Given the description of an element on the screen output the (x, y) to click on. 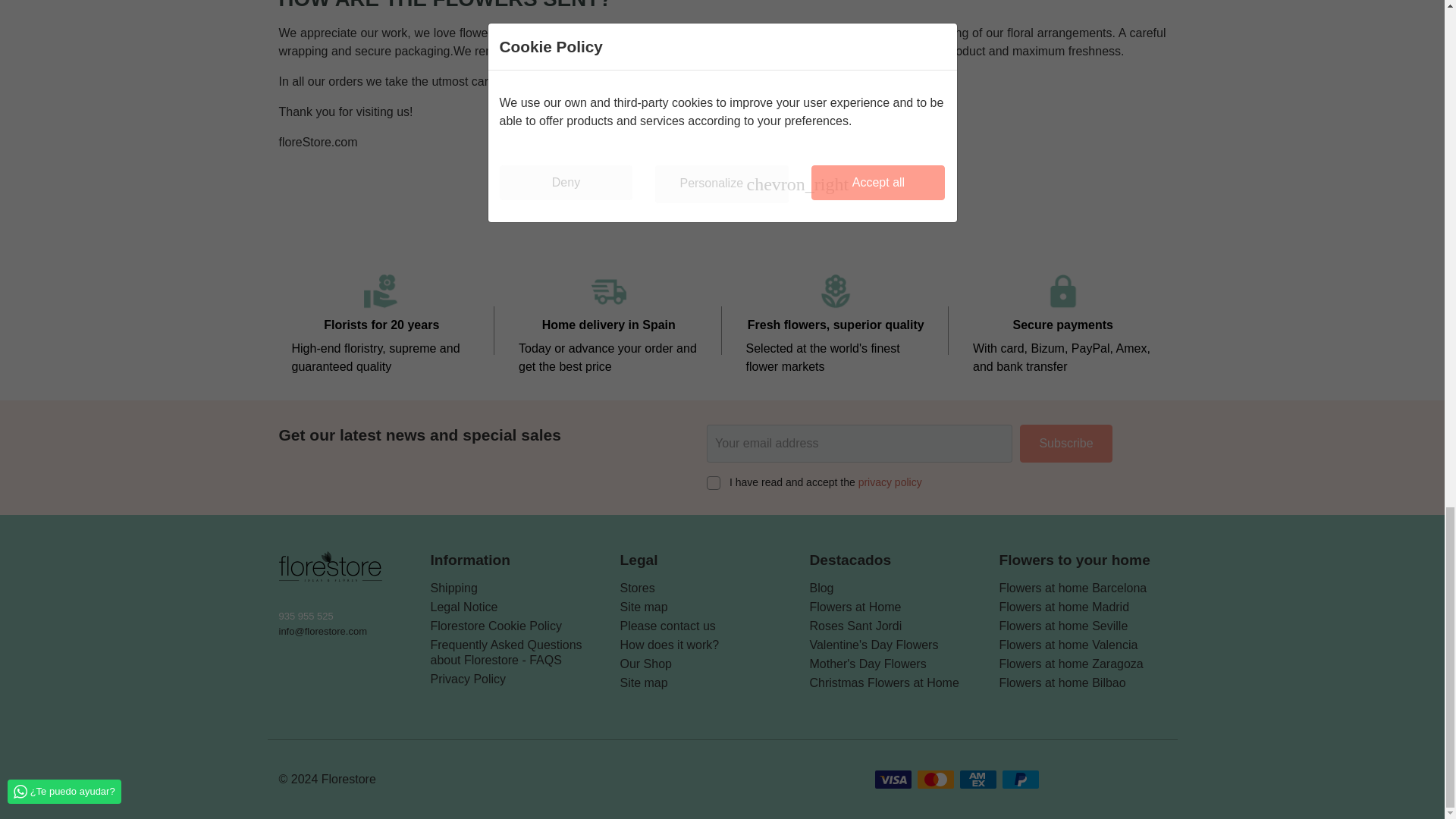
Subscribe (1066, 443)
